Given the description of an element on the screen output the (x, y) to click on. 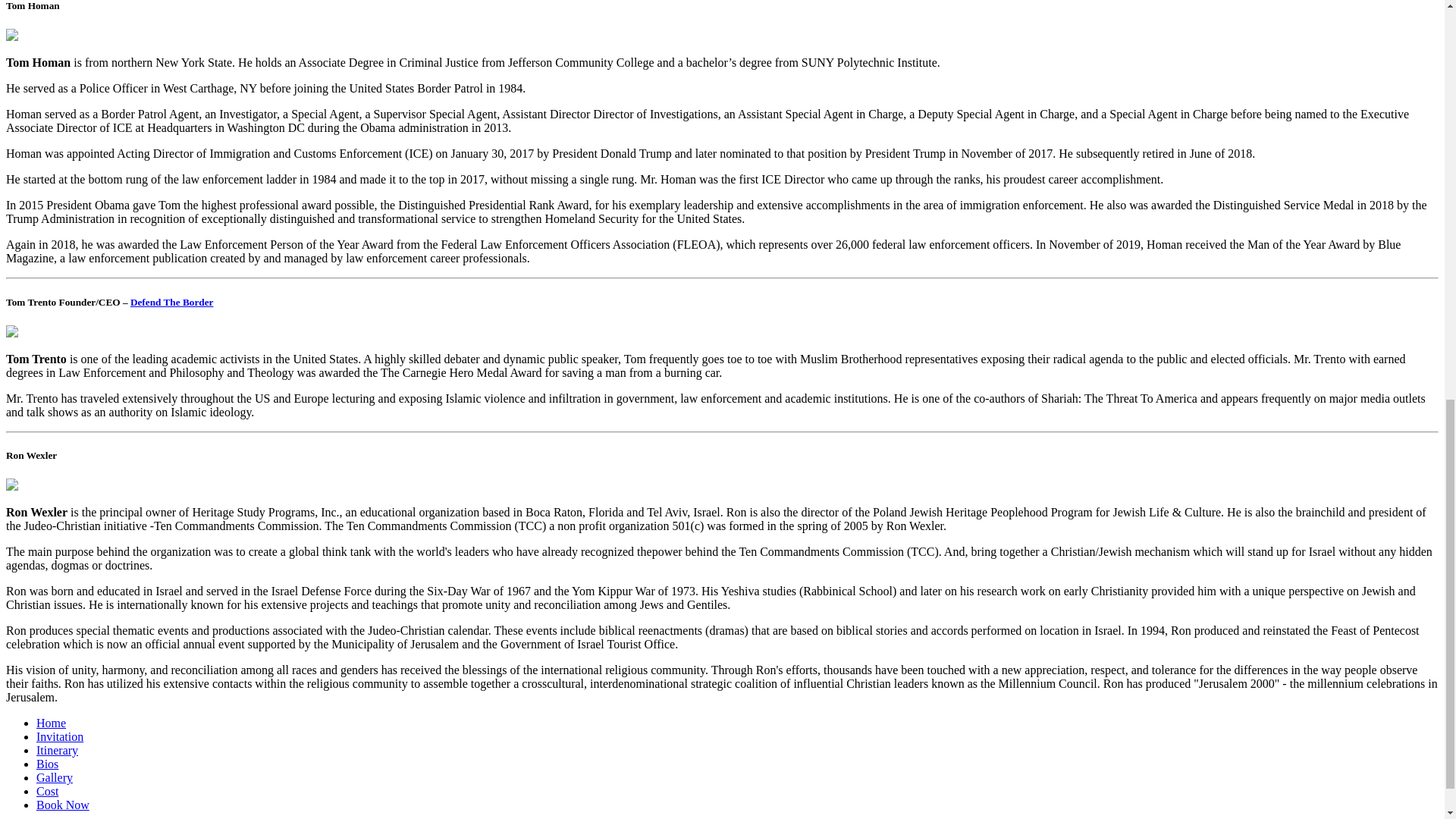
Cost (47, 790)
Itinerary (57, 749)
Defend The Border (172, 301)
Book Now (62, 804)
Gallery (54, 777)
Home (50, 722)
Invitation (59, 736)
Bios (47, 763)
